Given the description of an element on the screen output the (x, y) to click on. 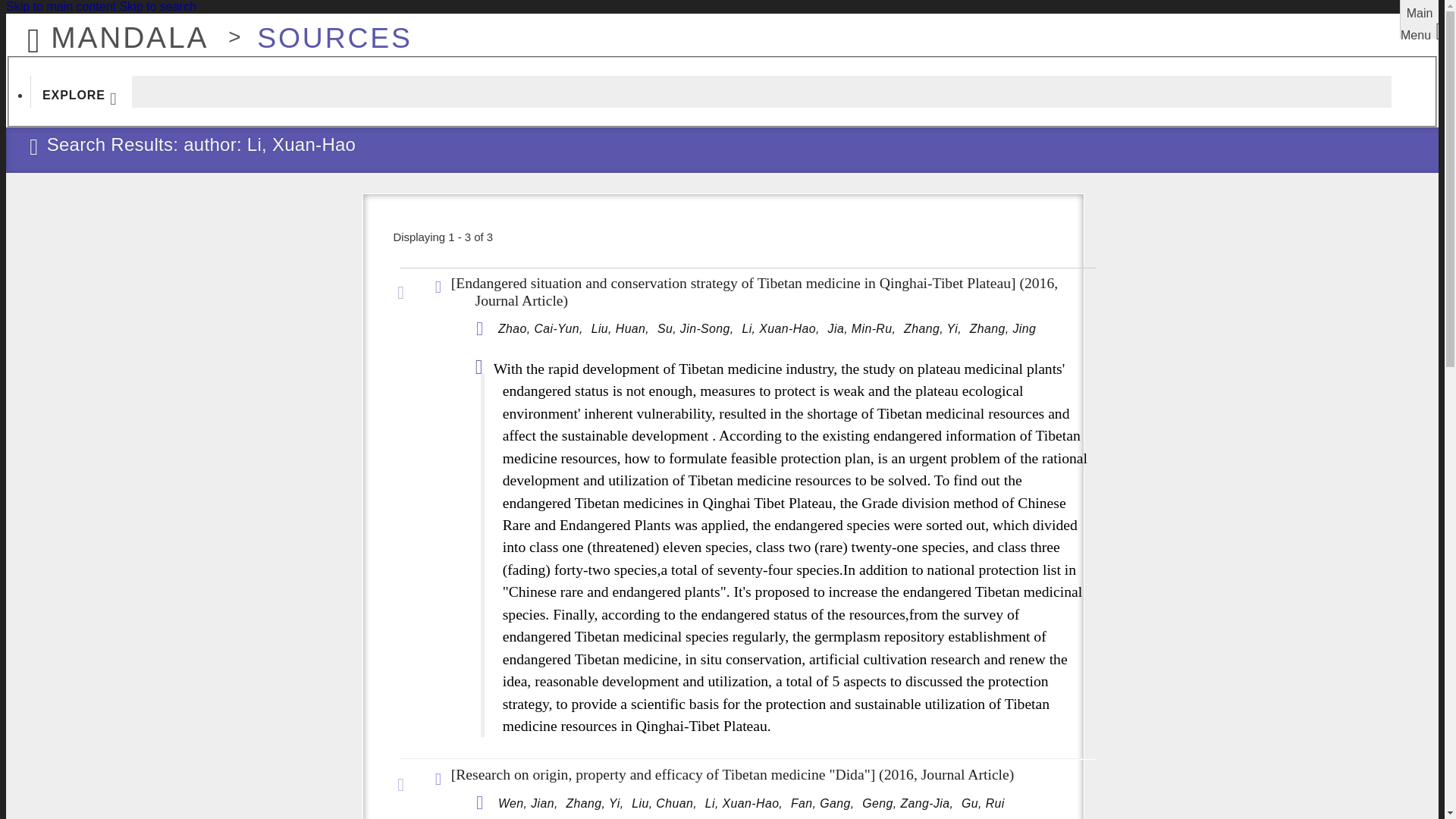
Fan, Gang, (823, 803)
EXPLORE (81, 91)
Geng, Zang-Jia, (908, 803)
Skip to search (157, 6)
SOURCES (326, 29)
Zhang, Yi, (934, 328)
Li, Xuan-Hao, (781, 328)
Zhang, Jing (1002, 328)
Mandala Collections - Sources Homepage (326, 29)
Wen, Jian, (529, 803)
Jia, Min-Ru, (863, 328)
Liu, Huan, (621, 328)
Zhang, Yi, (596, 803)
Zhao, Cai-Yun, (541, 328)
MANDALA (113, 29)
